Given the description of an element on the screen output the (x, y) to click on. 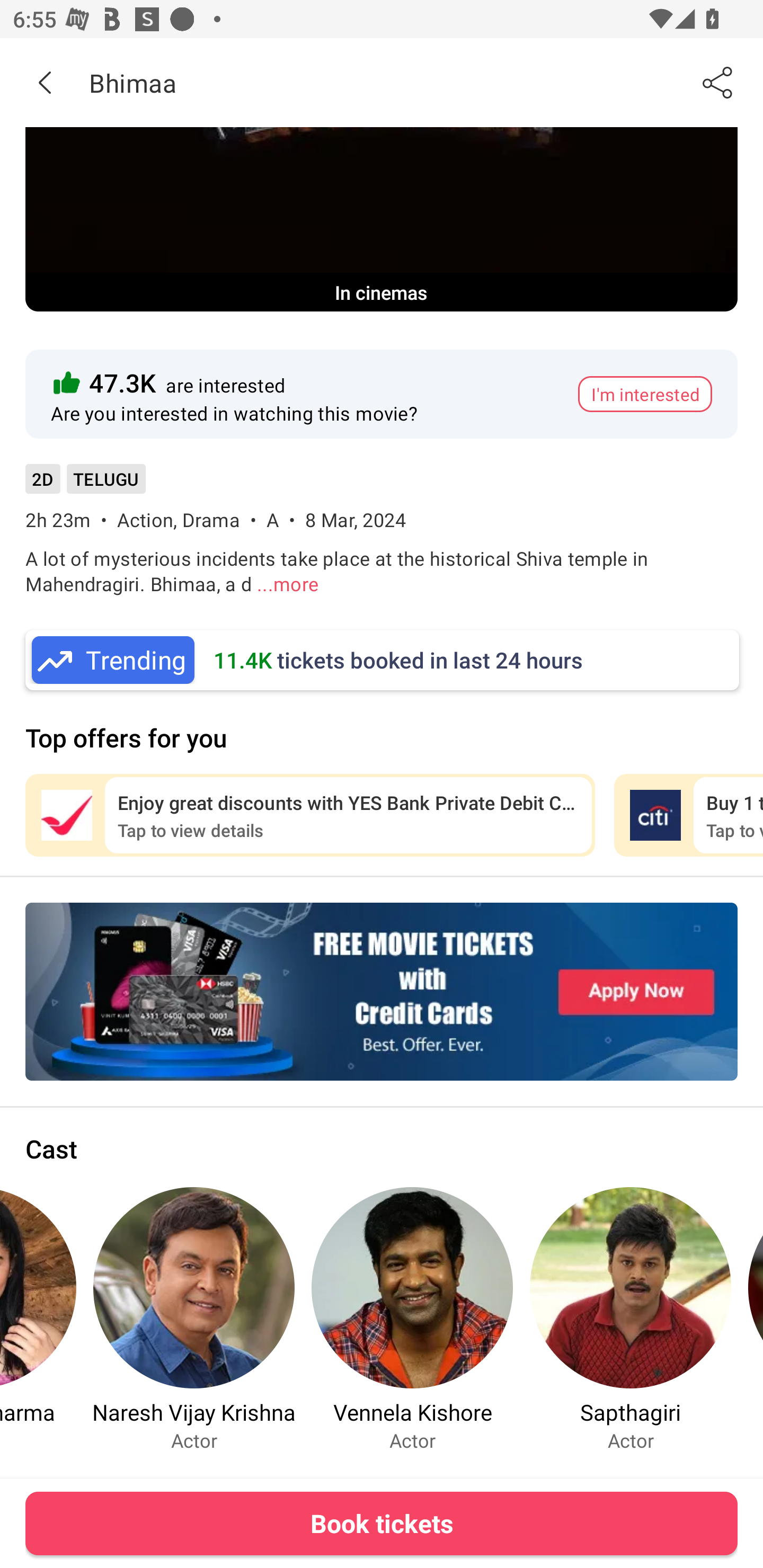
Back (44, 82)
Share (718, 82)
Movie Banner In cinemas (381, 219)
I'm interested (644, 394)
2D TELUGU (85, 485)
Naresh Vijay Krishna Actor (193, 1319)
Vennela Kishore Actor (412, 1319)
Sapthagiri Actor (630, 1319)
Book tickets (381, 1523)
